Given the description of an element on the screen output the (x, y) to click on. 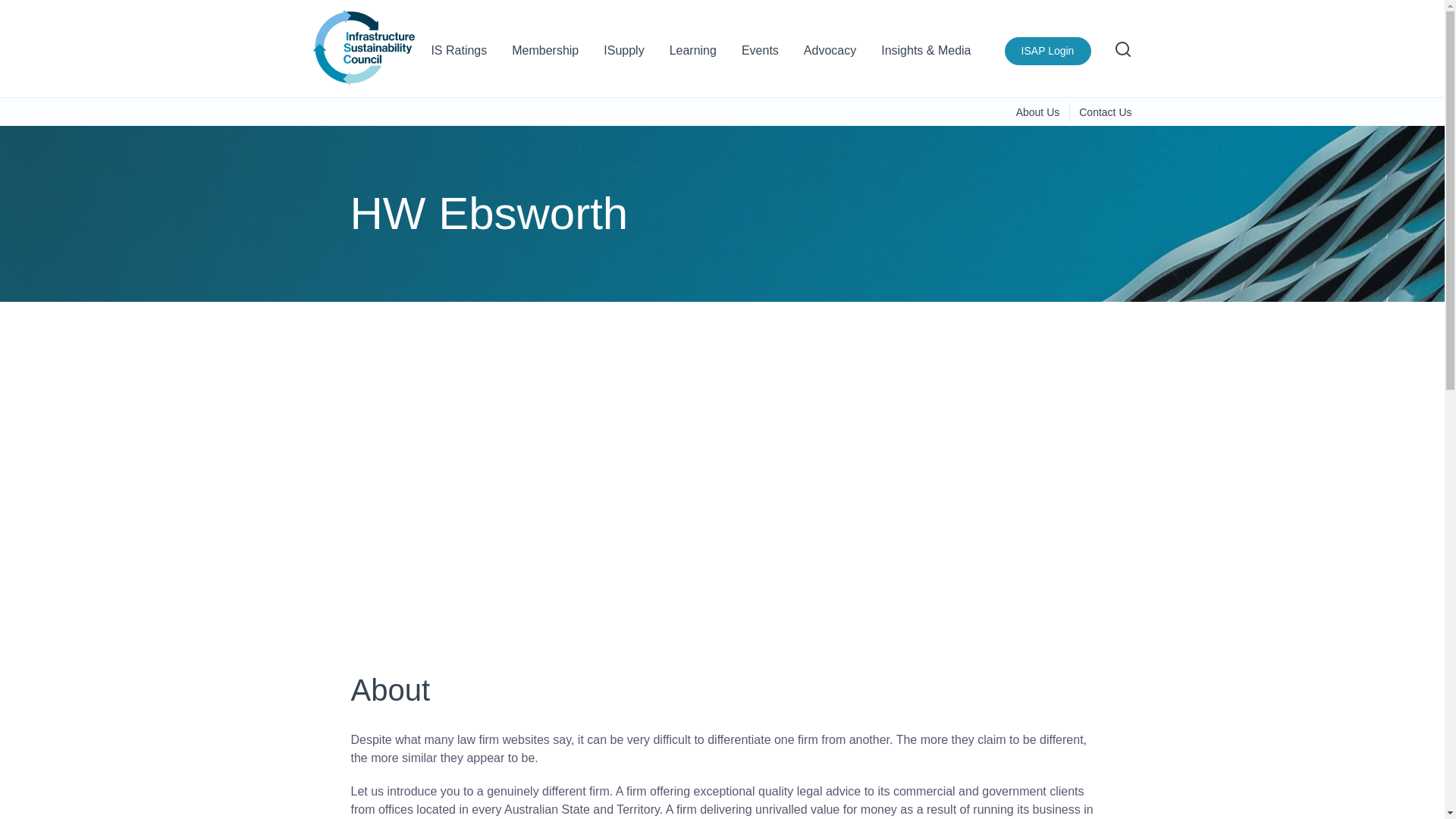
Advocacy (829, 56)
IS Ratings (458, 56)
Membership (545, 56)
ISupply (623, 56)
Events (759, 56)
Close (1115, 29)
Search (1122, 49)
Learning (692, 56)
